Given the description of an element on the screen output the (x, y) to click on. 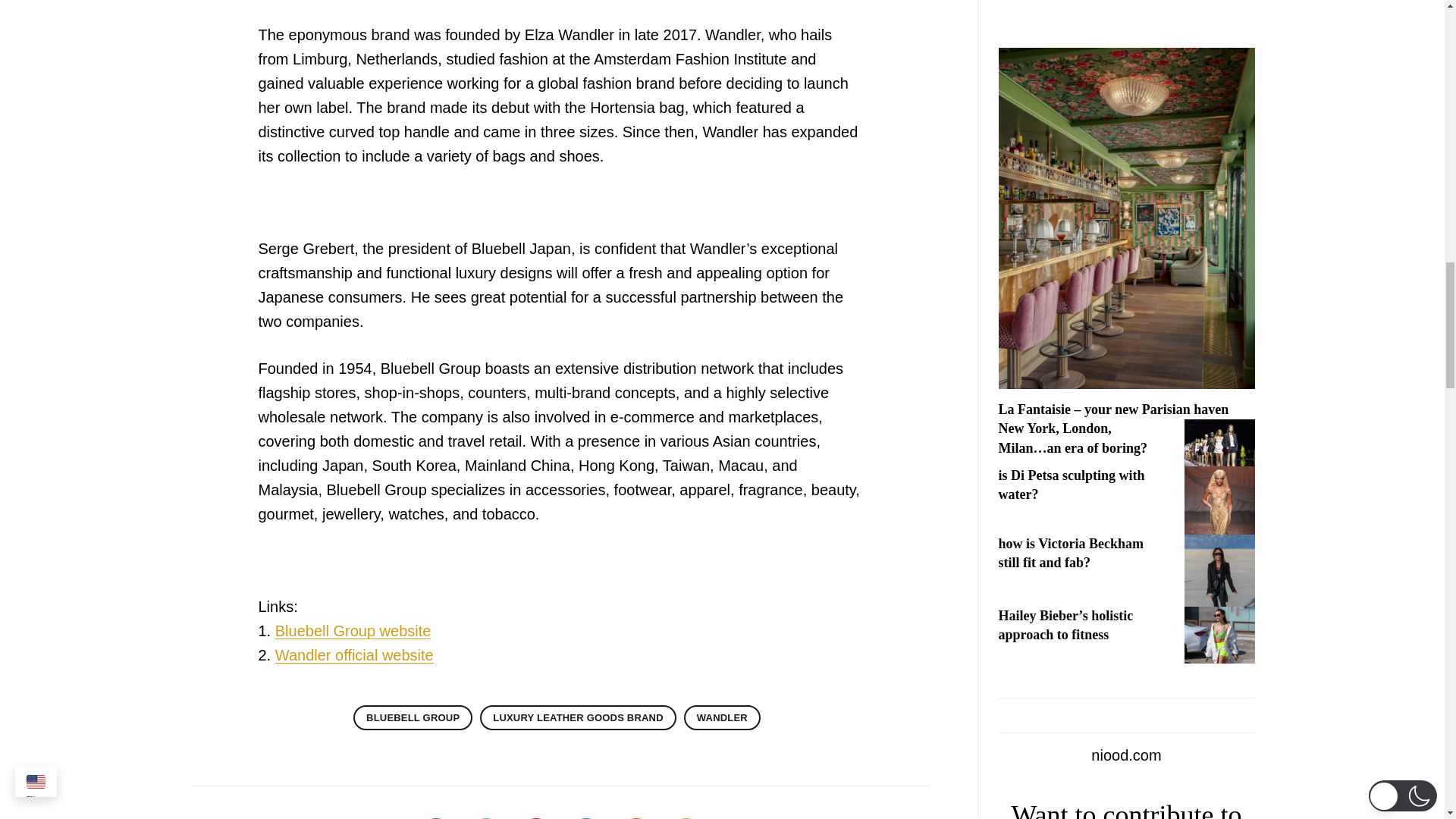
WANDLER (722, 717)
Wandler official website (354, 655)
LUXURY LEATHER GOODS BRAND (578, 717)
BLUEBELL GROUP (412, 717)
Bluebell Group website (352, 630)
